Given the description of an element on the screen output the (x, y) to click on. 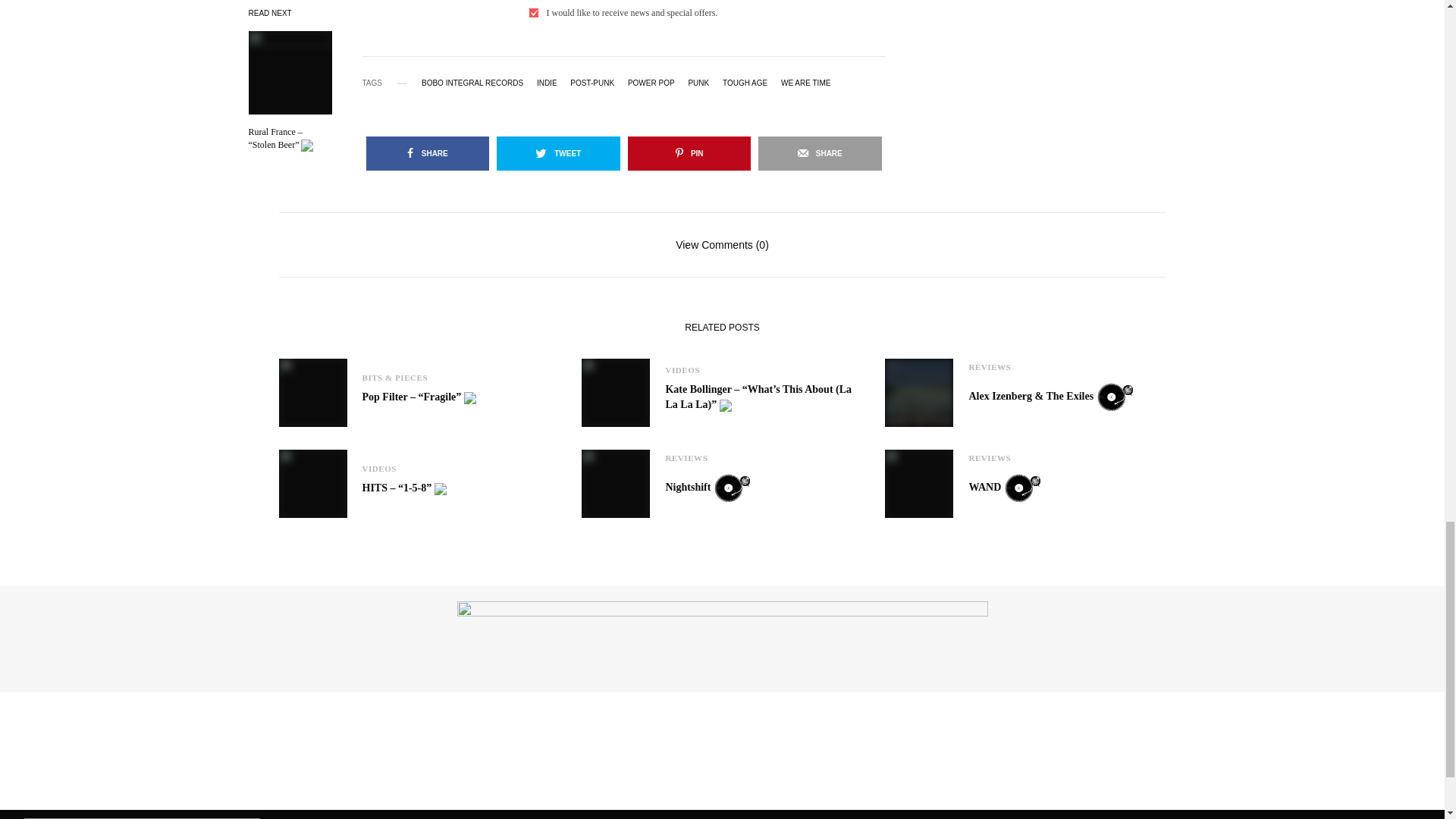
BOBO INTEGRAL RECORDS (472, 82)
POST-PUNK (592, 82)
TOUGH AGE (744, 82)
PUNK (698, 82)
POWER POP (651, 82)
INDIE (547, 82)
